Given the description of an element on the screen output the (x, y) to click on. 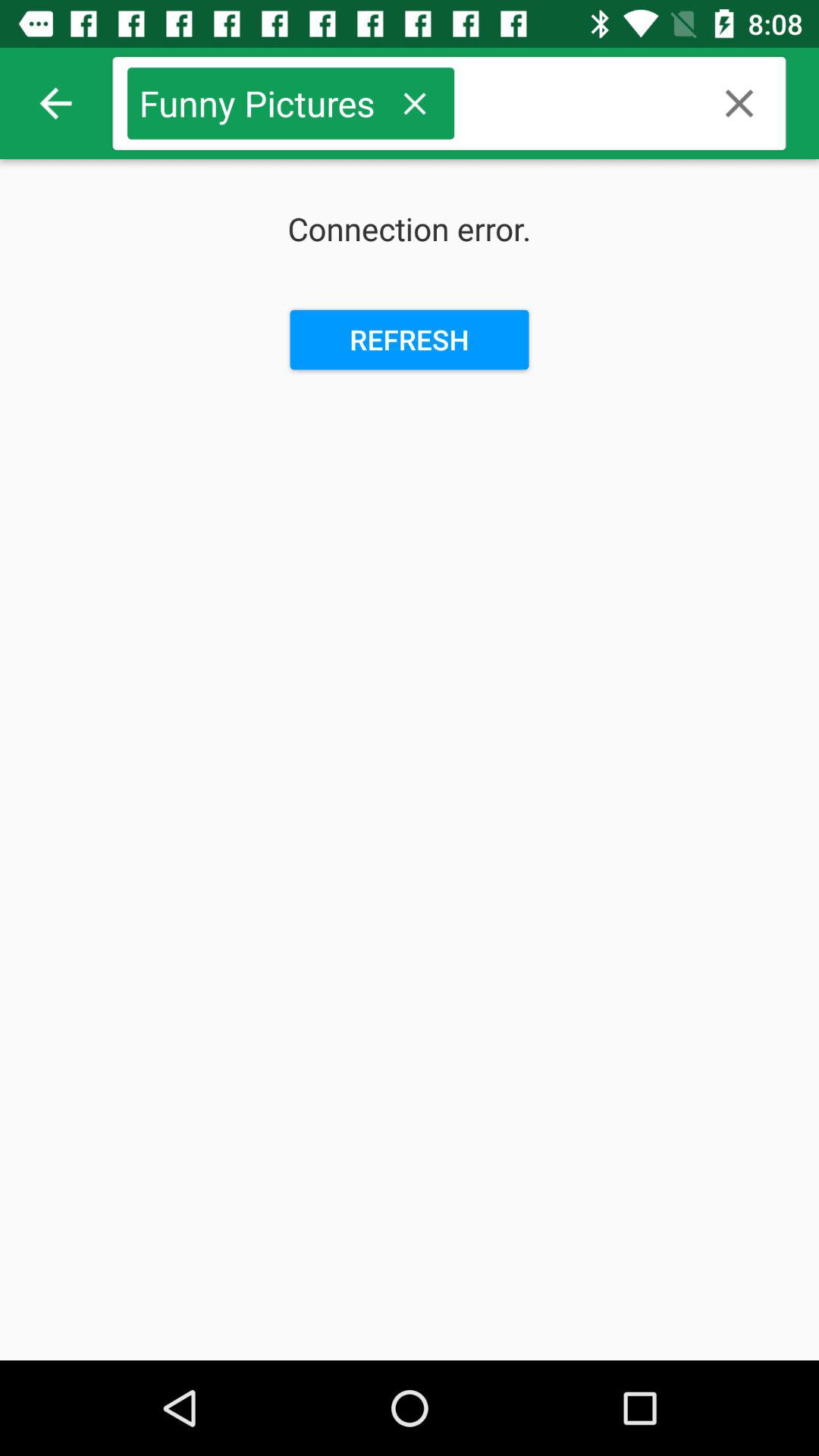
exit (739, 103)
